Given the description of an element on the screen output the (x, y) to click on. 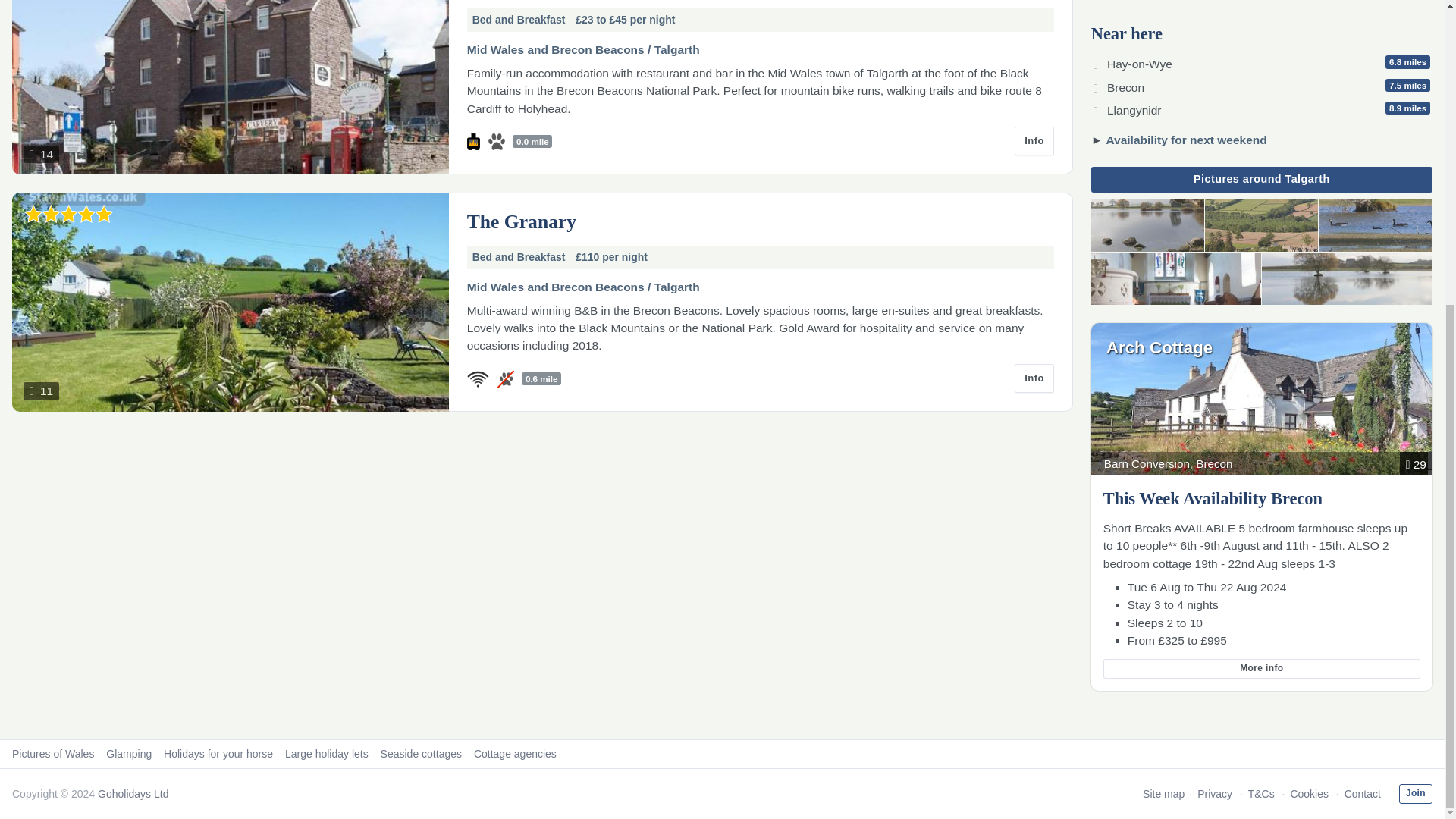
11 (229, 301)
Info (1033, 378)
Availability for next weekend (1185, 139)
Large holiday lets (326, 753)
Pictures of Wales (52, 753)
View (1261, 84)
Info (1261, 60)
View (1176, 278)
Seaside cottages (1261, 106)
View (1033, 140)
More info (1374, 225)
Glamping (420, 753)
